Given the description of an element on the screen output the (x, y) to click on. 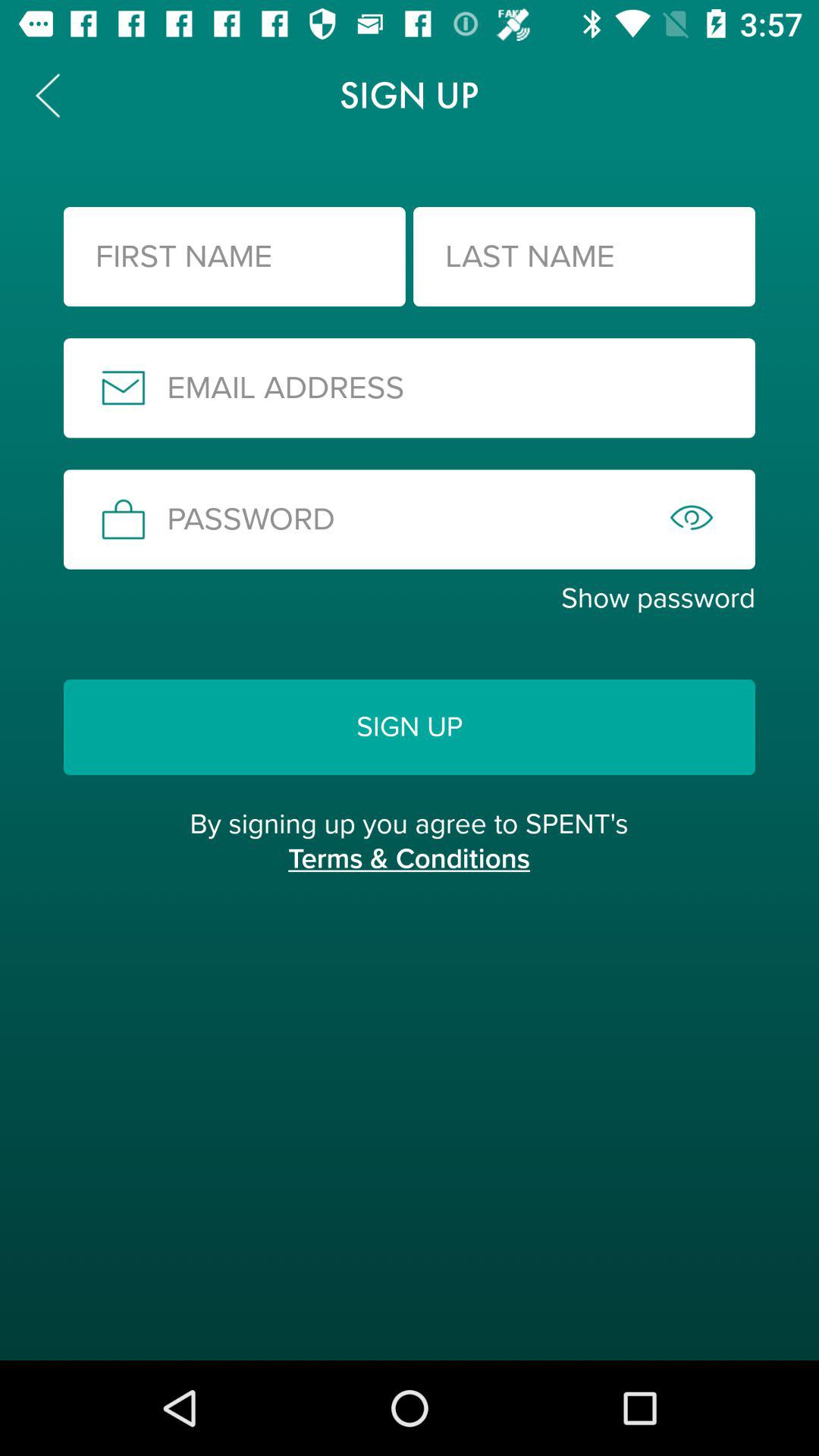
tap item above show password (409, 519)
